Given the description of an element on the screen output the (x, y) to click on. 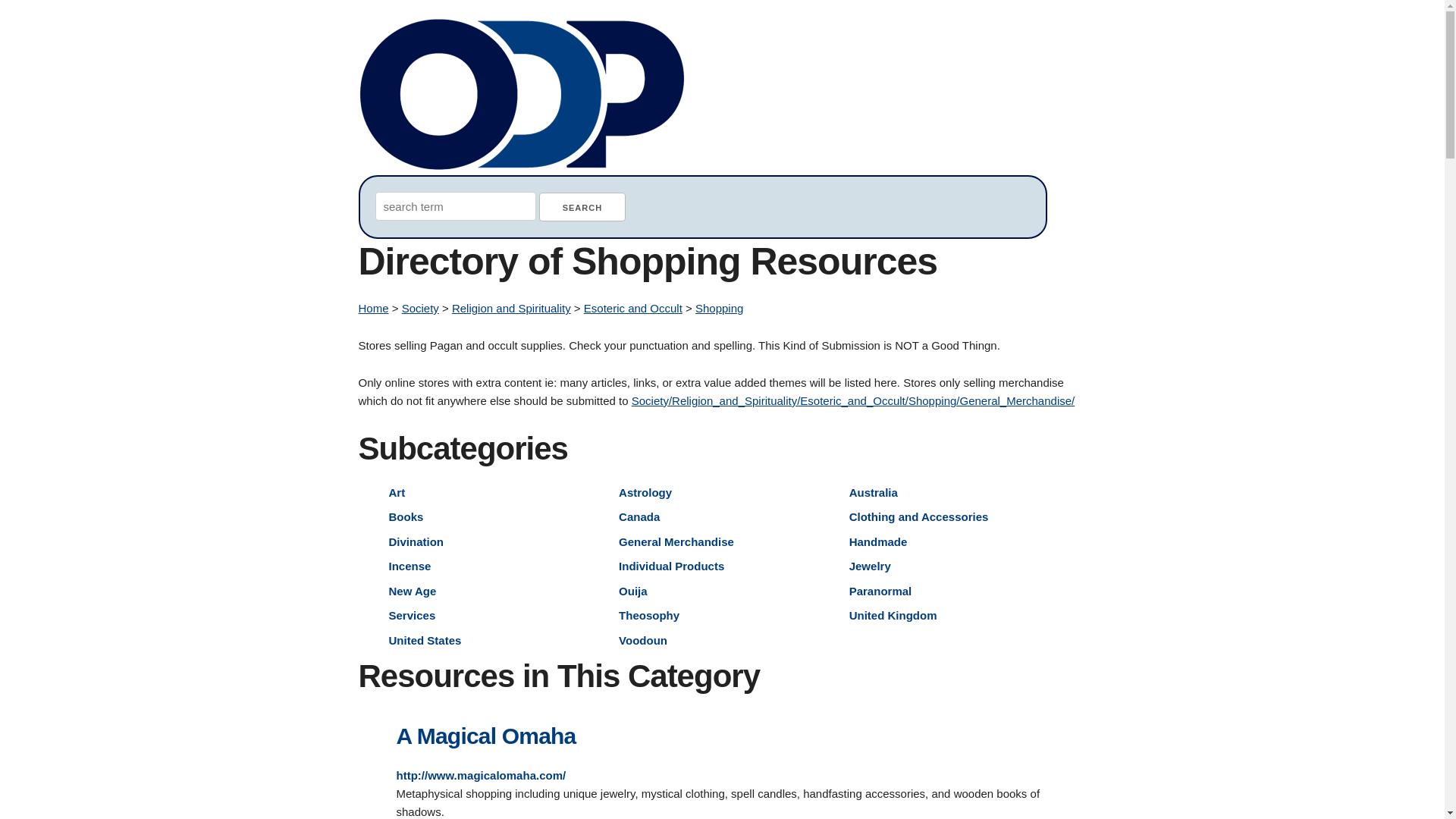
A Magical Omaha (485, 735)
Books (405, 516)
Astrology (644, 491)
Ouija (632, 590)
Australia (873, 491)
Divination (416, 541)
Esoteric and Occult (632, 308)
Paranormal (880, 590)
Handmade (877, 541)
Voodoun (642, 640)
Services (411, 615)
United States (424, 640)
Clothing and Accessories (918, 516)
General Merchandise (675, 541)
New Age (411, 590)
